Given the description of an element on the screen output the (x, y) to click on. 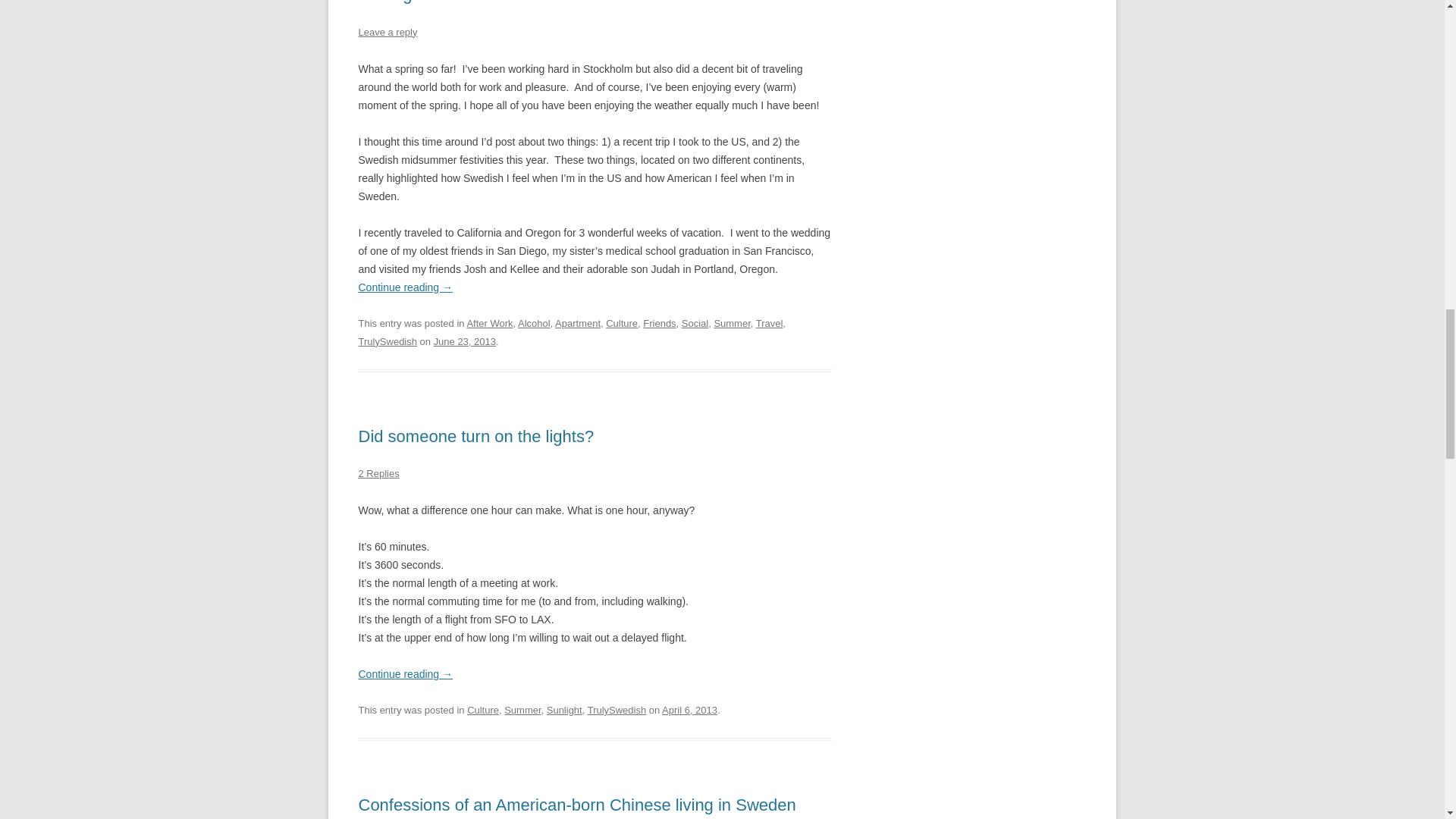
3:07 pm (689, 709)
1:26 pm (464, 341)
